Given the description of an element on the screen output the (x, y) to click on. 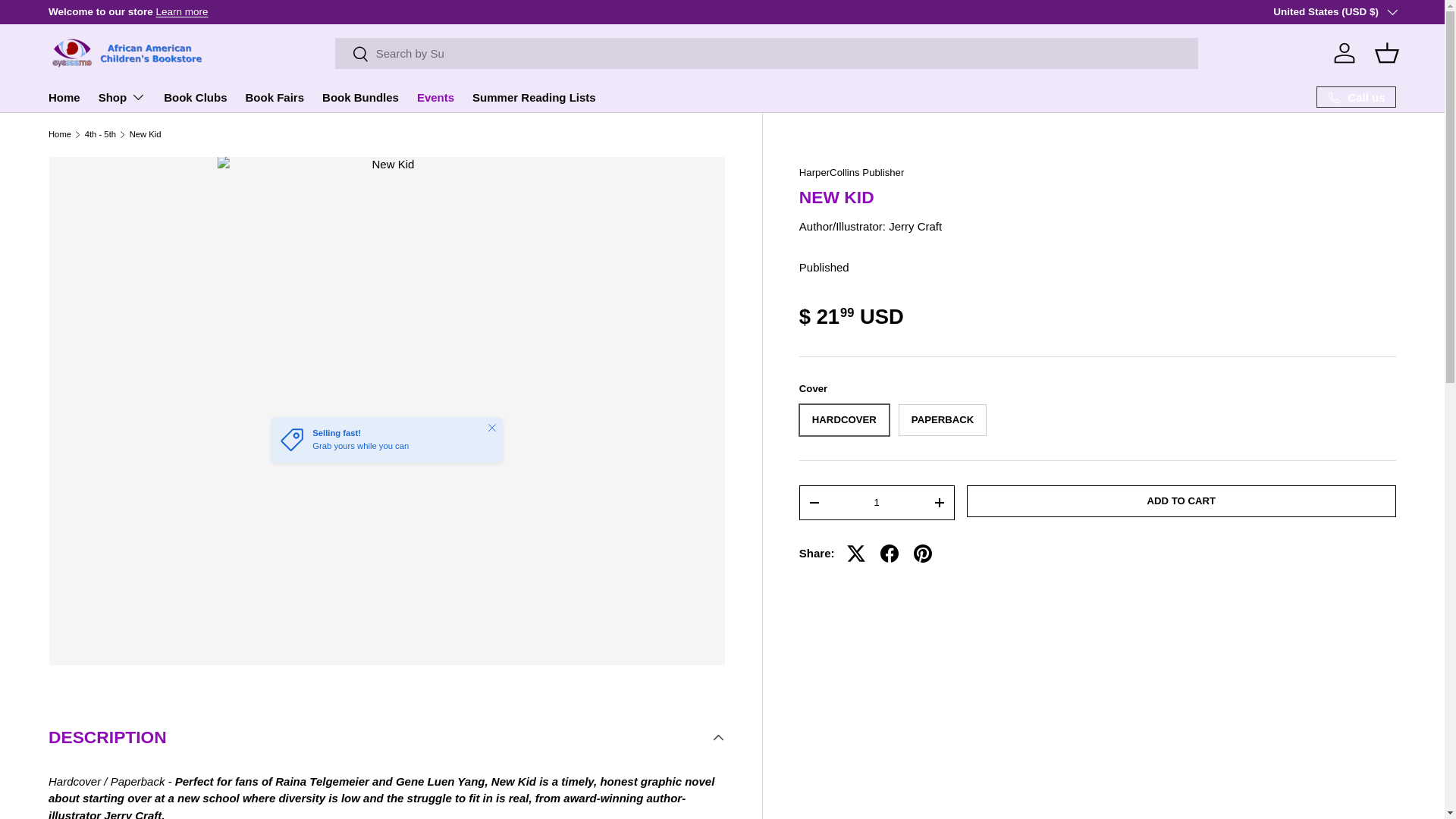
About Us (181, 11)
Book Bundles (359, 97)
Home (64, 97)
HarperCollins Publisher (851, 172)
Basket (1386, 52)
Pin on Pinterest (922, 553)
SKIP TO CONTENT (68, 21)
New Kid (145, 134)
Share on Facebook (888, 553)
4th - 5th (100, 134)
